Given the description of an element on the screen output the (x, y) to click on. 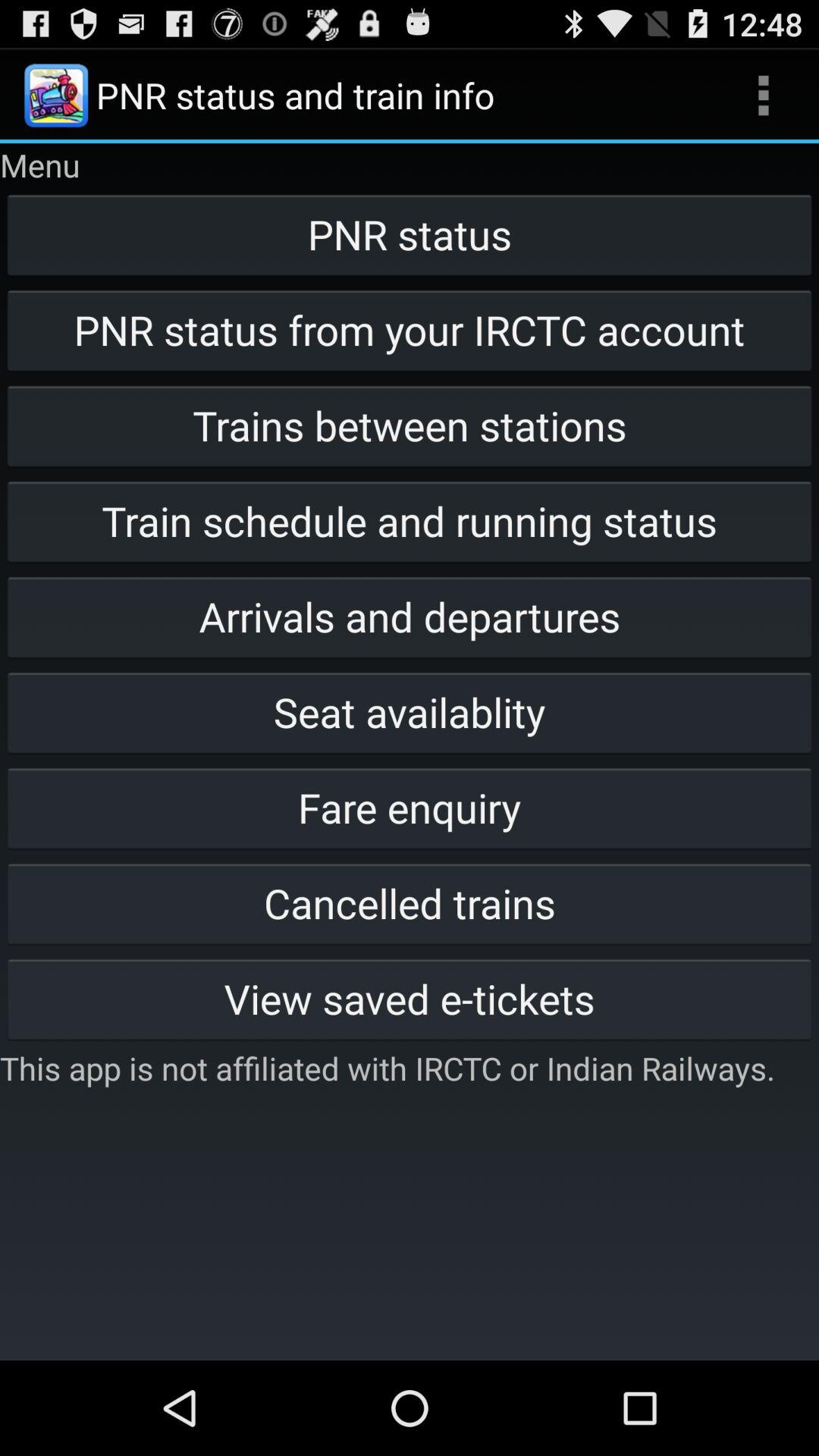
click item above the fare enquiry item (409, 711)
